Given the description of an element on the screen output the (x, y) to click on. 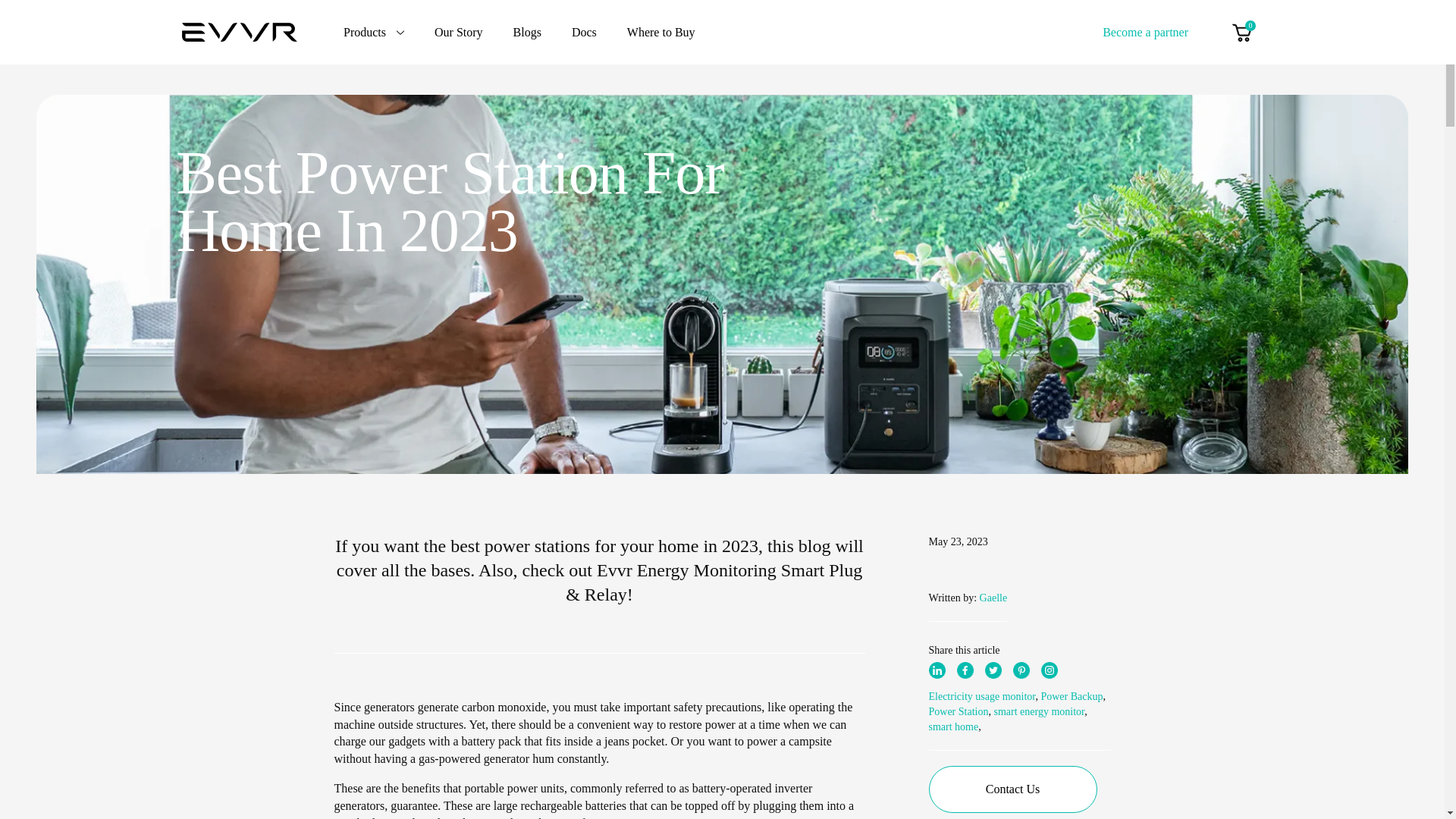
Products (373, 31)
Docs (584, 31)
Become a partner (1144, 31)
Blogs (527, 31)
Where to Buy (661, 31)
0 (1240, 31)
Our Story (458, 31)
